Given the description of an element on the screen output the (x, y) to click on. 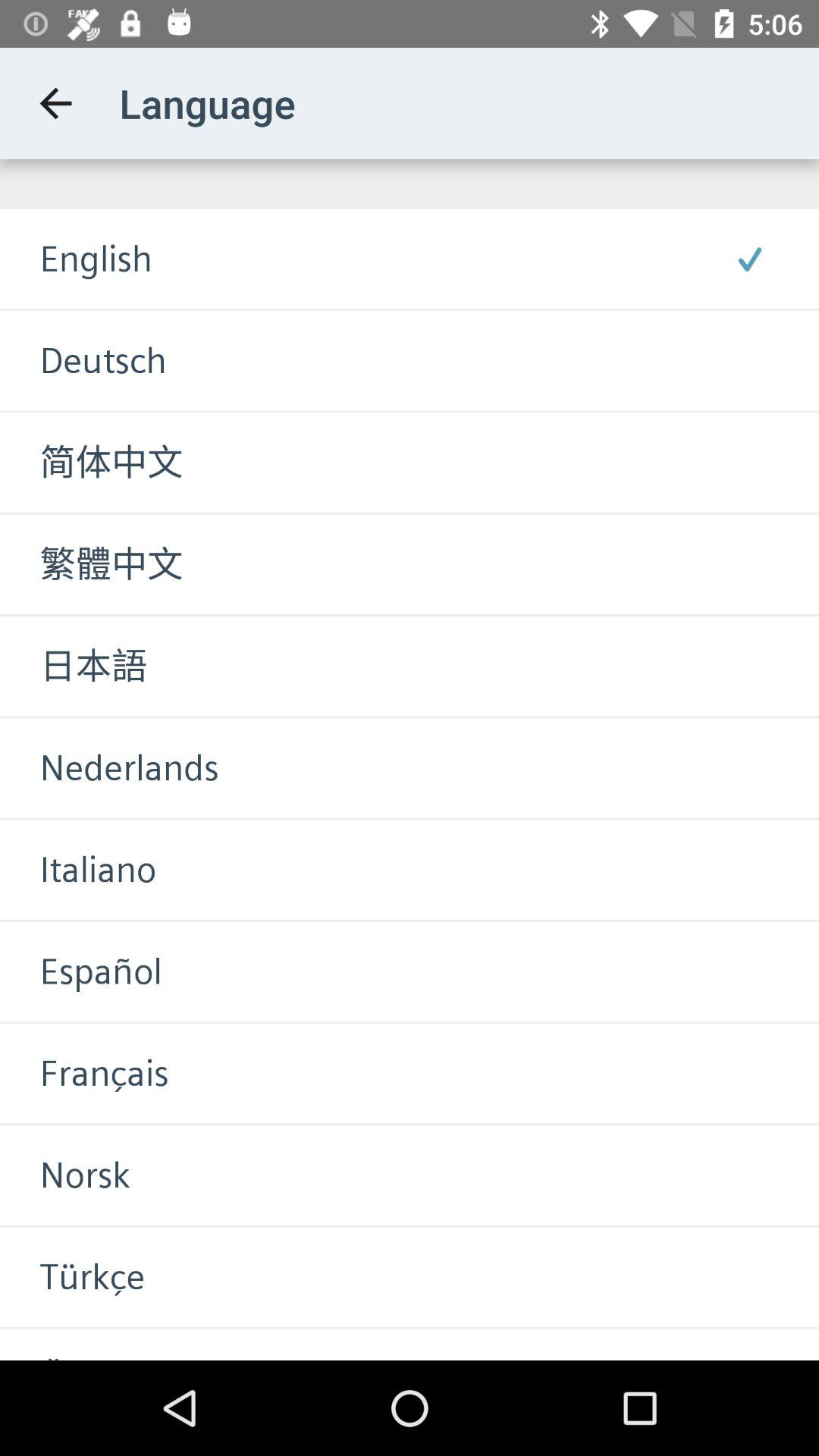
choose the english item (76, 258)
